Given the description of an element on the screen output the (x, y) to click on. 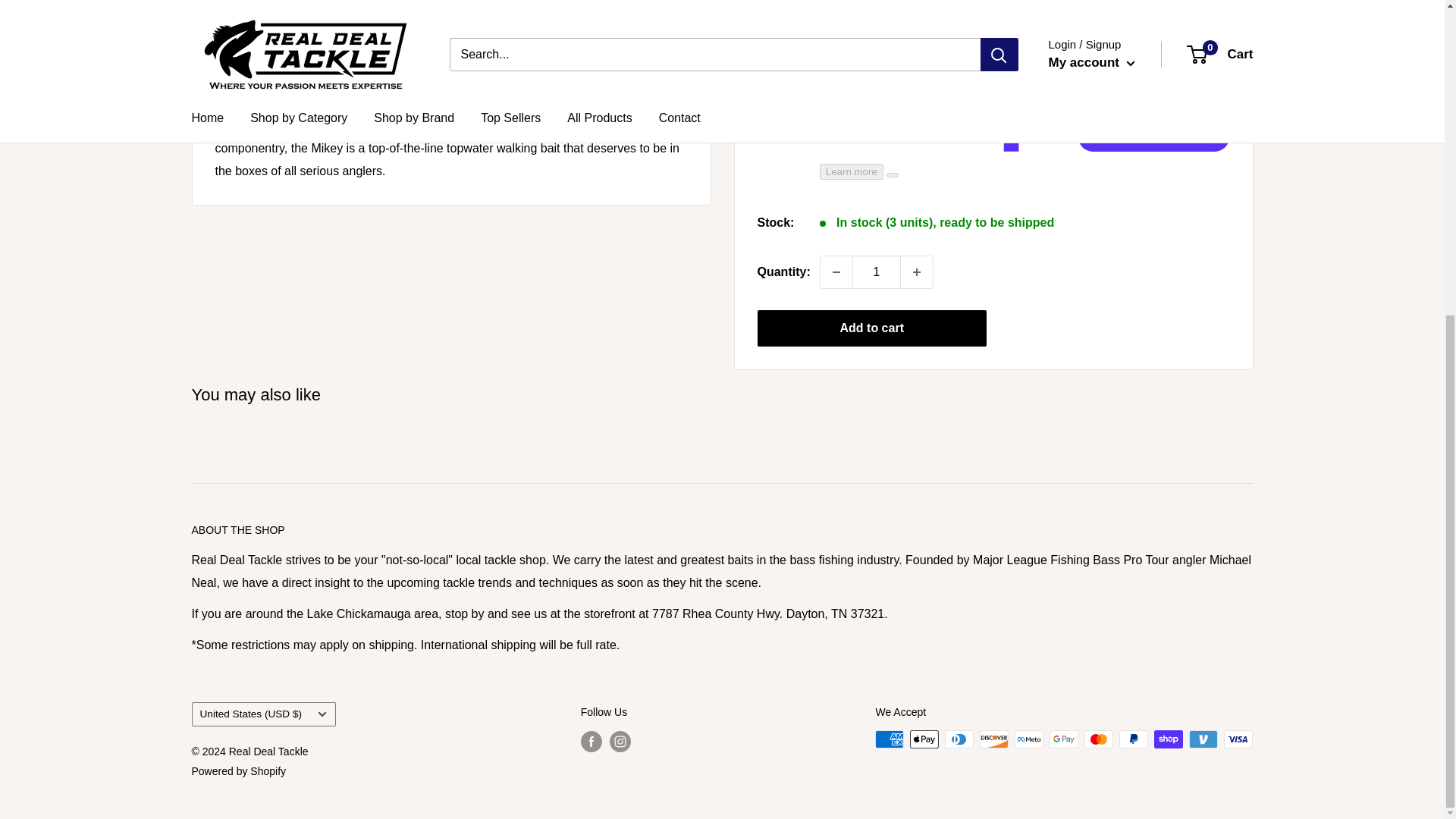
Increase quantity by 1 (917, 272)
1 (876, 272)
Decrease quantity by 1 (836, 272)
